Given the description of an element on the screen output the (x, y) to click on. 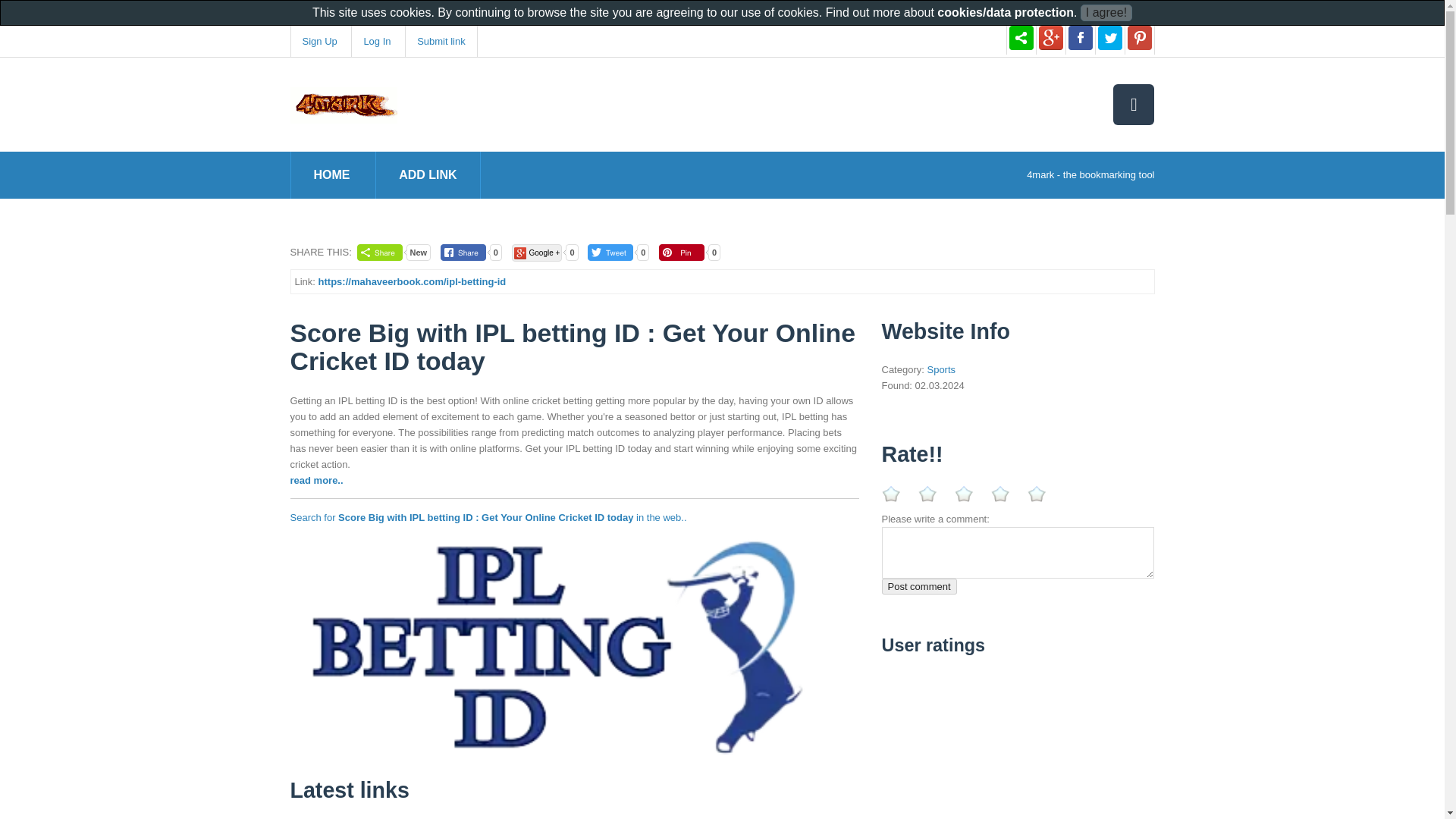
Submit link (440, 40)
Post comment (918, 586)
Sign Up (318, 40)
HOME (332, 174)
read more.. (315, 480)
Log In (375, 40)
Click to view! (574, 646)
I agree! (1106, 12)
ADD LINK (427, 174)
